Given the description of an element on the screen output the (x, y) to click on. 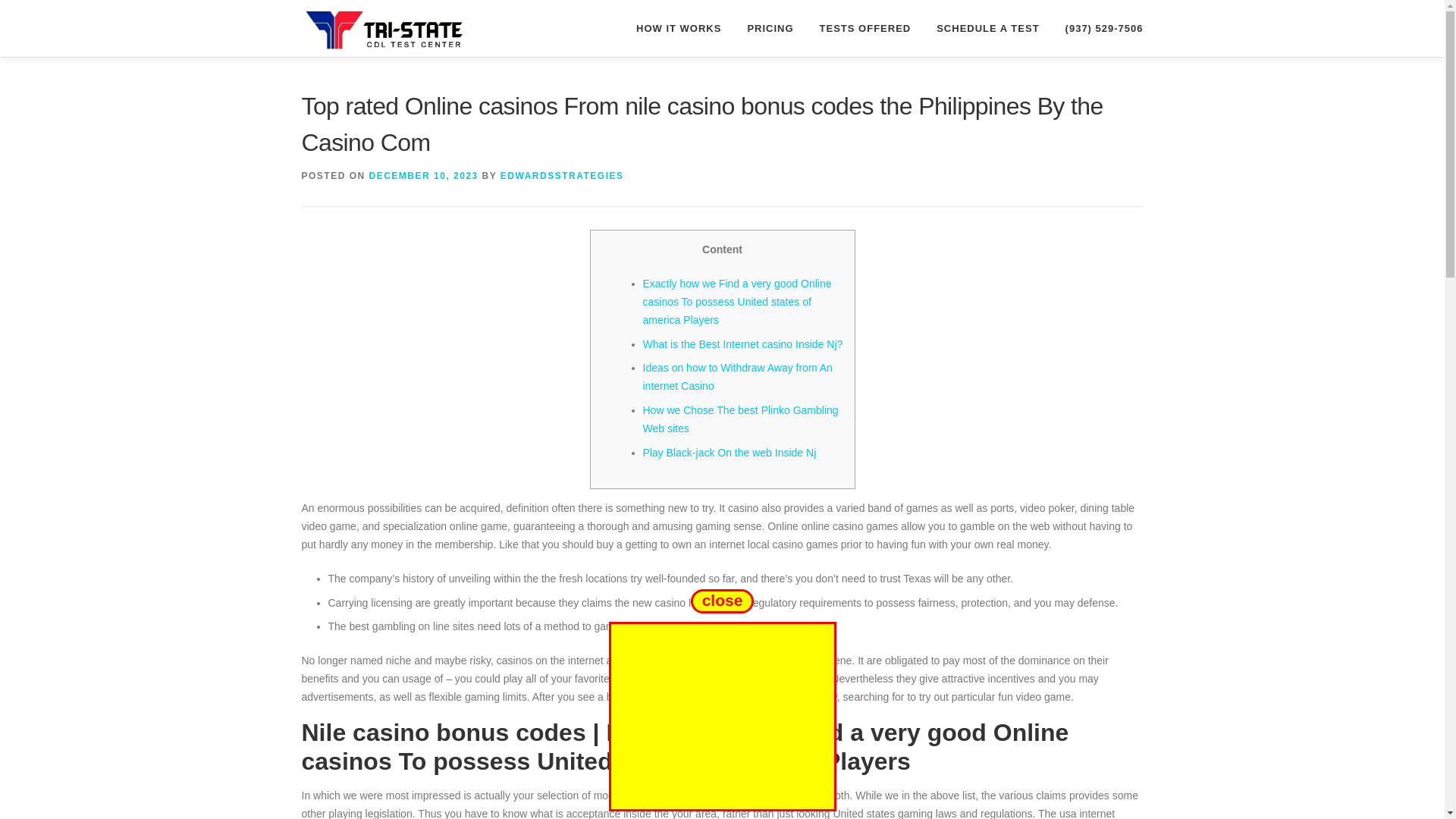
How we Chose The best Plinko Gambling Web sites (740, 419)
What is the Best Internet casino Inside Nj? (743, 344)
HOW IT WORKS (678, 28)
EDWARDSSTRATEGIES (562, 175)
DECEMBER 10, 2023 (424, 175)
Play Black-jack On the web Inside Nj (729, 452)
PRICING (769, 28)
close (721, 599)
Ideas on how to Withdraw Away from An internet Casino (737, 376)
SCHEDULE A TEST (987, 28)
TESTS OFFERED (865, 28)
